Given the description of an element on the screen output the (x, y) to click on. 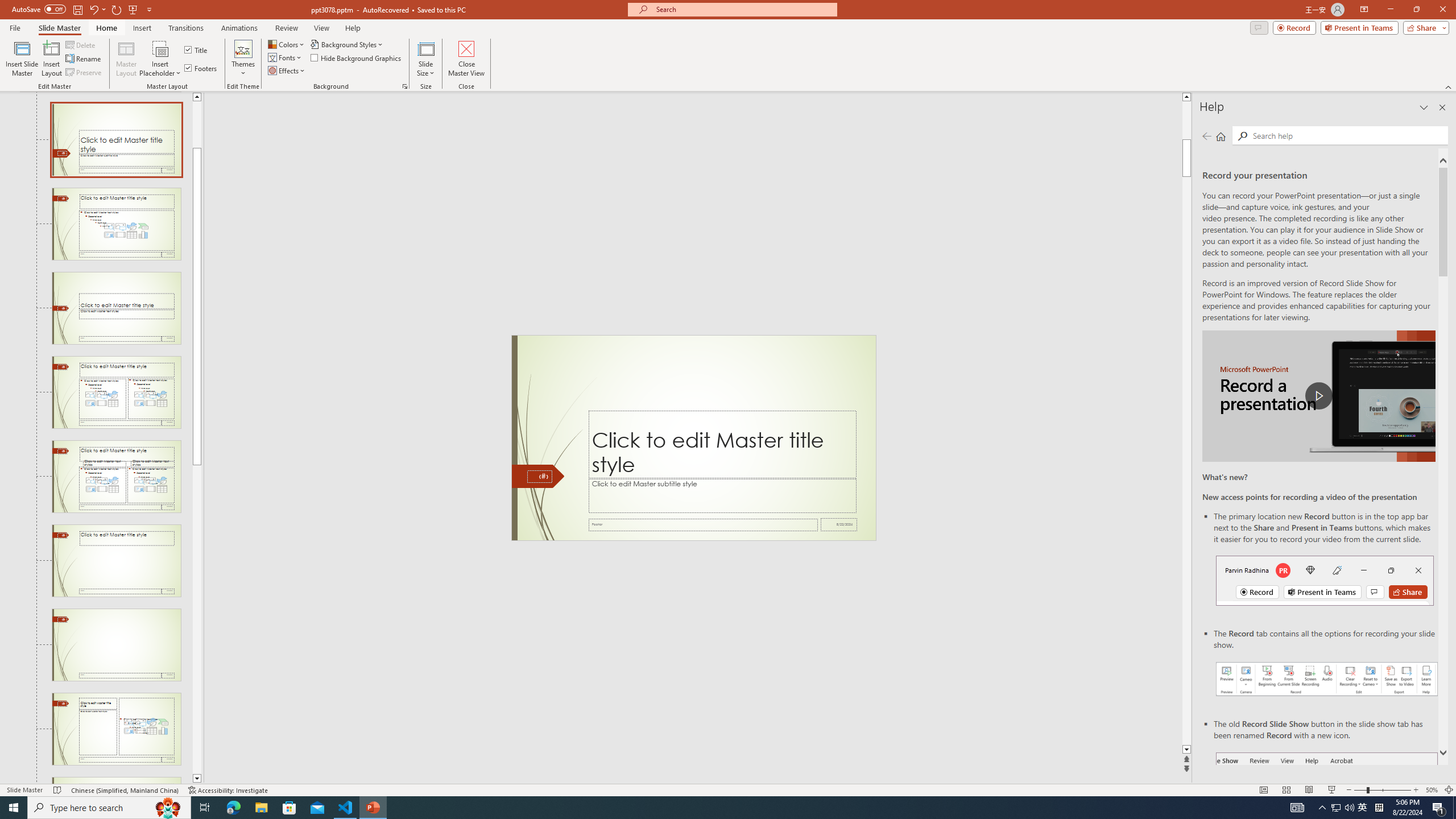
Effects (287, 69)
Slide Size (425, 58)
Format Background... (404, 85)
Slide Two Content Layout: used by no slides (116, 392)
Rename (84, 58)
play Record a Presentation (1318, 395)
Fonts (285, 56)
Delete (81, 44)
Slide Blank Layout: used by no slides (116, 644)
Page down (197, 619)
Title (196, 49)
